Given the description of an element on the screen output the (x, y) to click on. 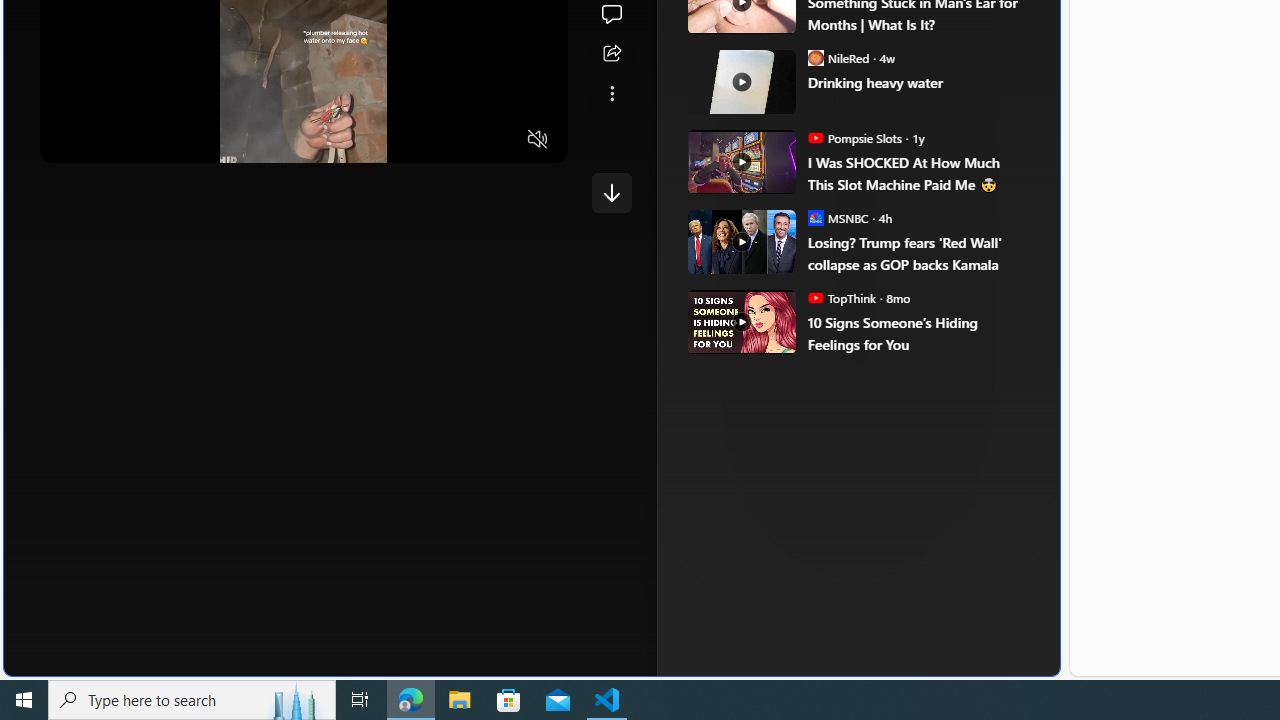
Fullscreen (499, 139)
Pause (69, 139)
Class: control (611, 192)
Seek Back (109, 139)
Pompsie Slots (816, 138)
Unmute (538, 139)
Captions (460, 139)
MSNBC MSNBC (838, 218)
